Given the description of an element on the screen output the (x, y) to click on. 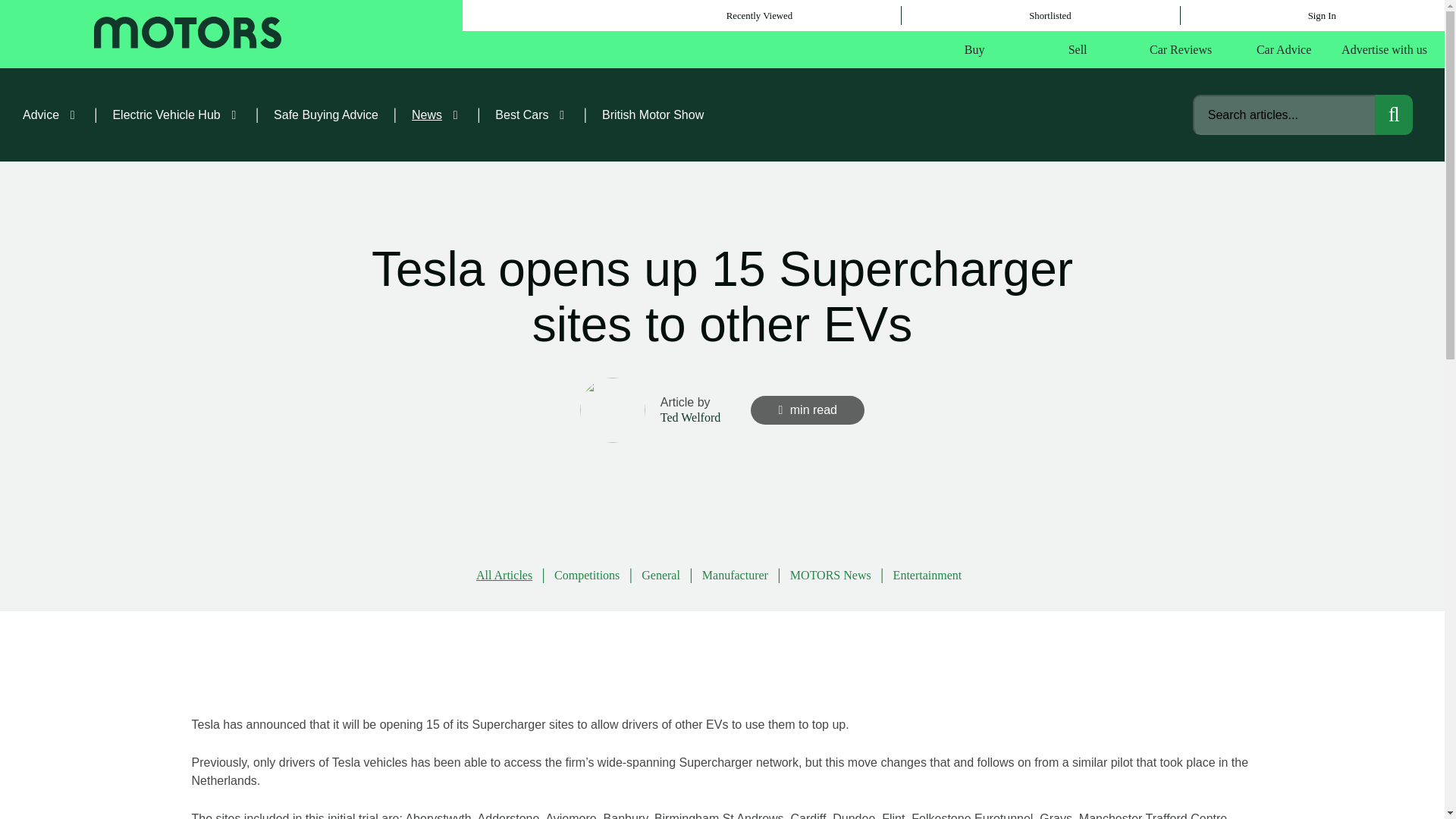
Sell (1077, 49)
Search (1393, 115)
Sign In (1322, 14)
MOTORS (186, 34)
Recently Viewed (758, 14)
Buy (974, 49)
Shortlisted (1049, 14)
Car Reviews (1180, 49)
